Given the description of an element on the screen output the (x, y) to click on. 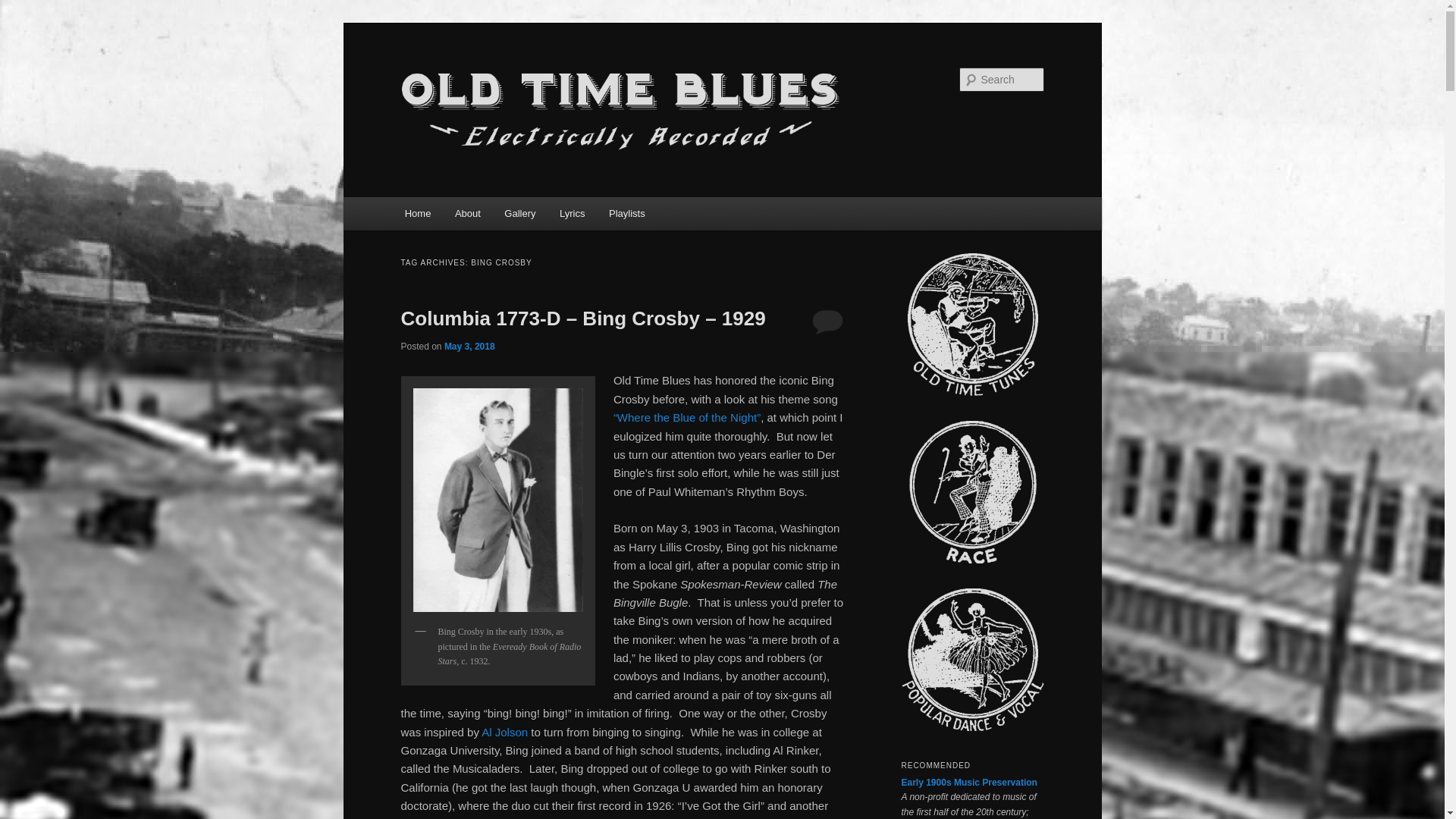
3:40 pm (469, 346)
Lyrics (571, 213)
About (467, 213)
Gallery (520, 213)
Search (24, 8)
Playlists (626, 213)
Home (417, 213)
